Given the description of an element on the screen output the (x, y) to click on. 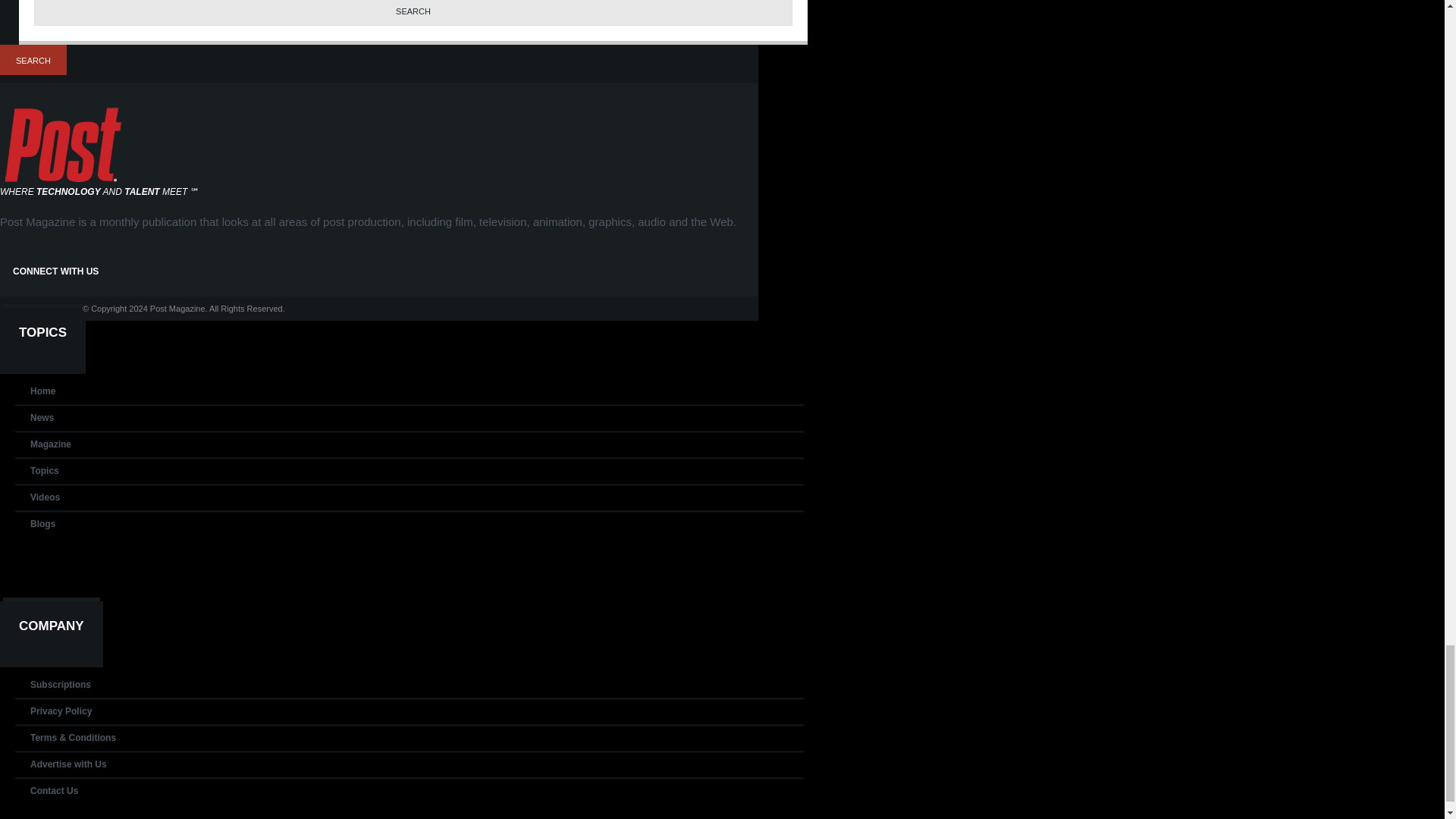
Search (412, 12)
Search (33, 60)
